Given the description of an element on the screen output the (x, y) to click on. 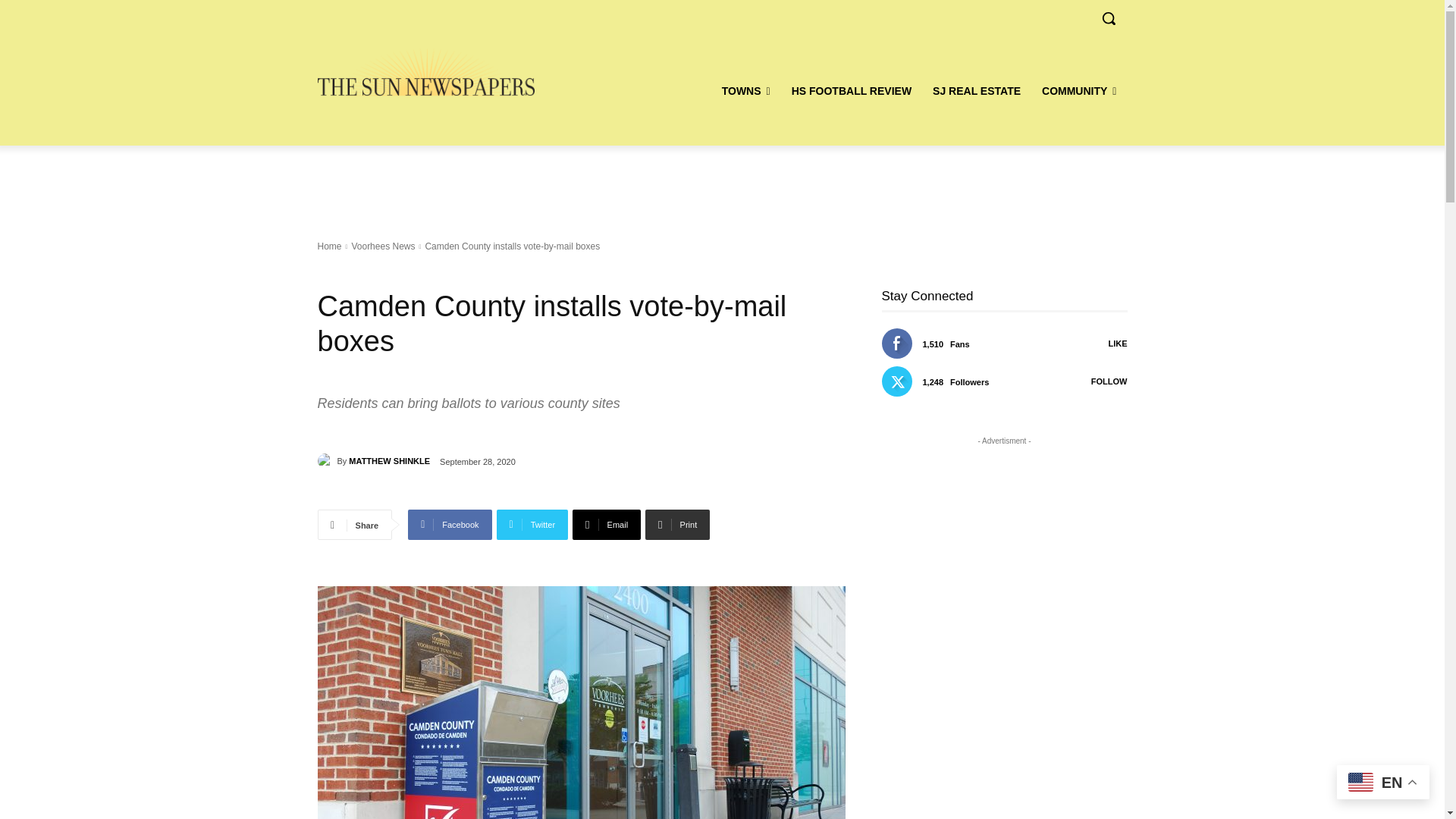
Print (677, 524)
3rd party ad content (721, 183)
View all posts in Voorhees News (382, 245)
Email (606, 524)
Facebook (449, 524)
Twitter (532, 524)
MATTHEW SHINKLE (326, 460)
